Given the description of an element on the screen output the (x, y) to click on. 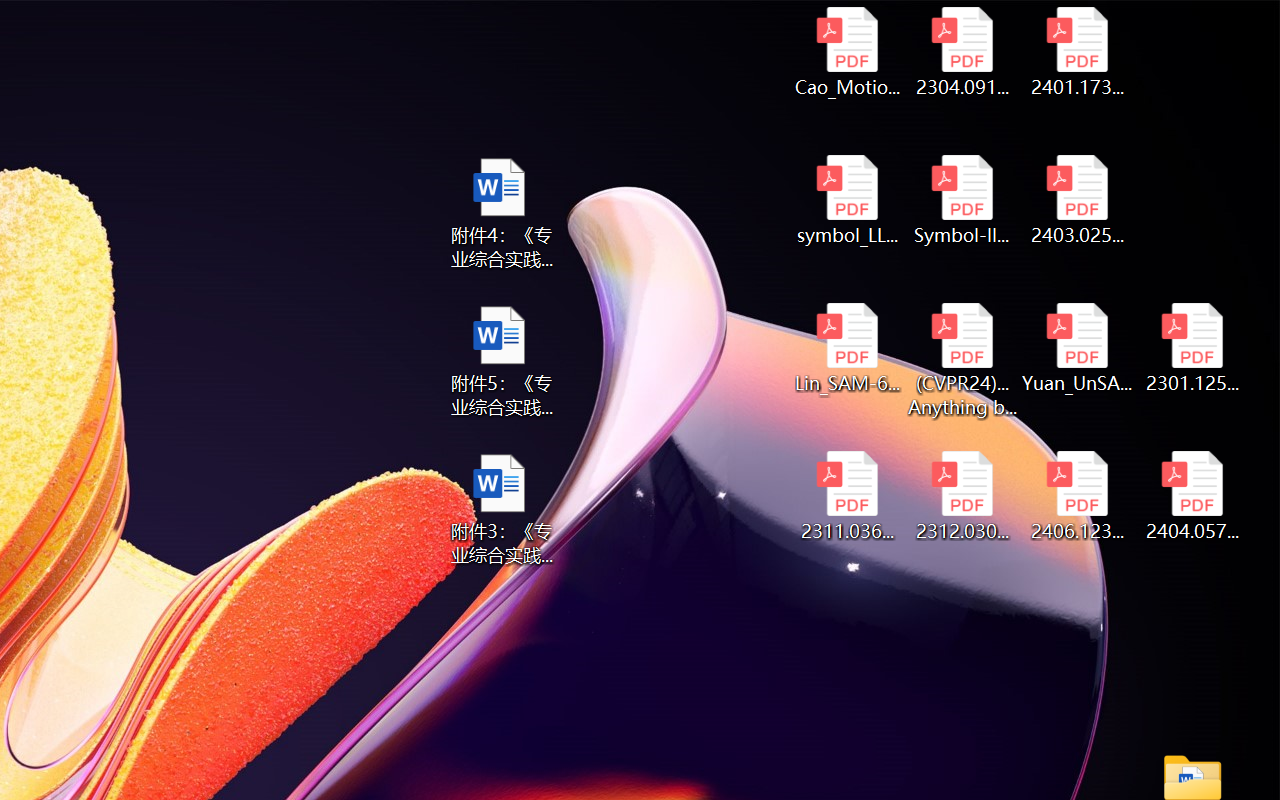
2404.05719v1.pdf (1192, 496)
2311.03658v2.pdf (846, 496)
2401.17399v1.pdf (1077, 52)
(CVPR24)Matching Anything by Segmenting Anything.pdf (962, 360)
2403.02502v1.pdf (1077, 200)
2312.03032v2.pdf (962, 496)
Symbol-llm-v2.pdf (962, 200)
2304.09121v3.pdf (962, 52)
2406.12373v2.pdf (1077, 496)
